Given the description of an element on the screen output the (x, y) to click on. 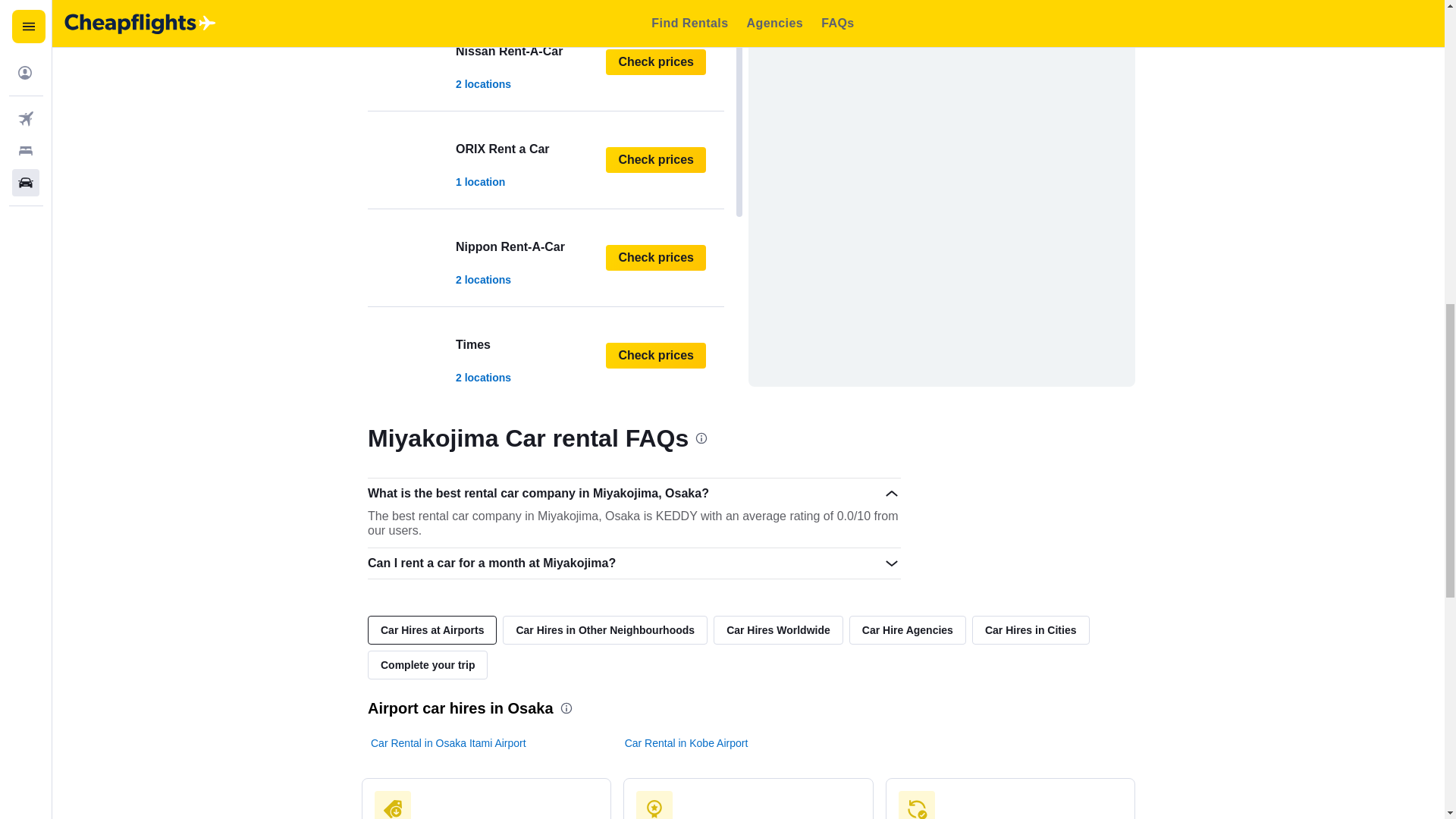
Check prices (655, 159)
Check prices (655, 257)
Check prices (545, 355)
Check prices (545, 257)
Check prices (545, 159)
Check prices (655, 551)
Check prices (655, 62)
